Given the description of an element on the screen output the (x, y) to click on. 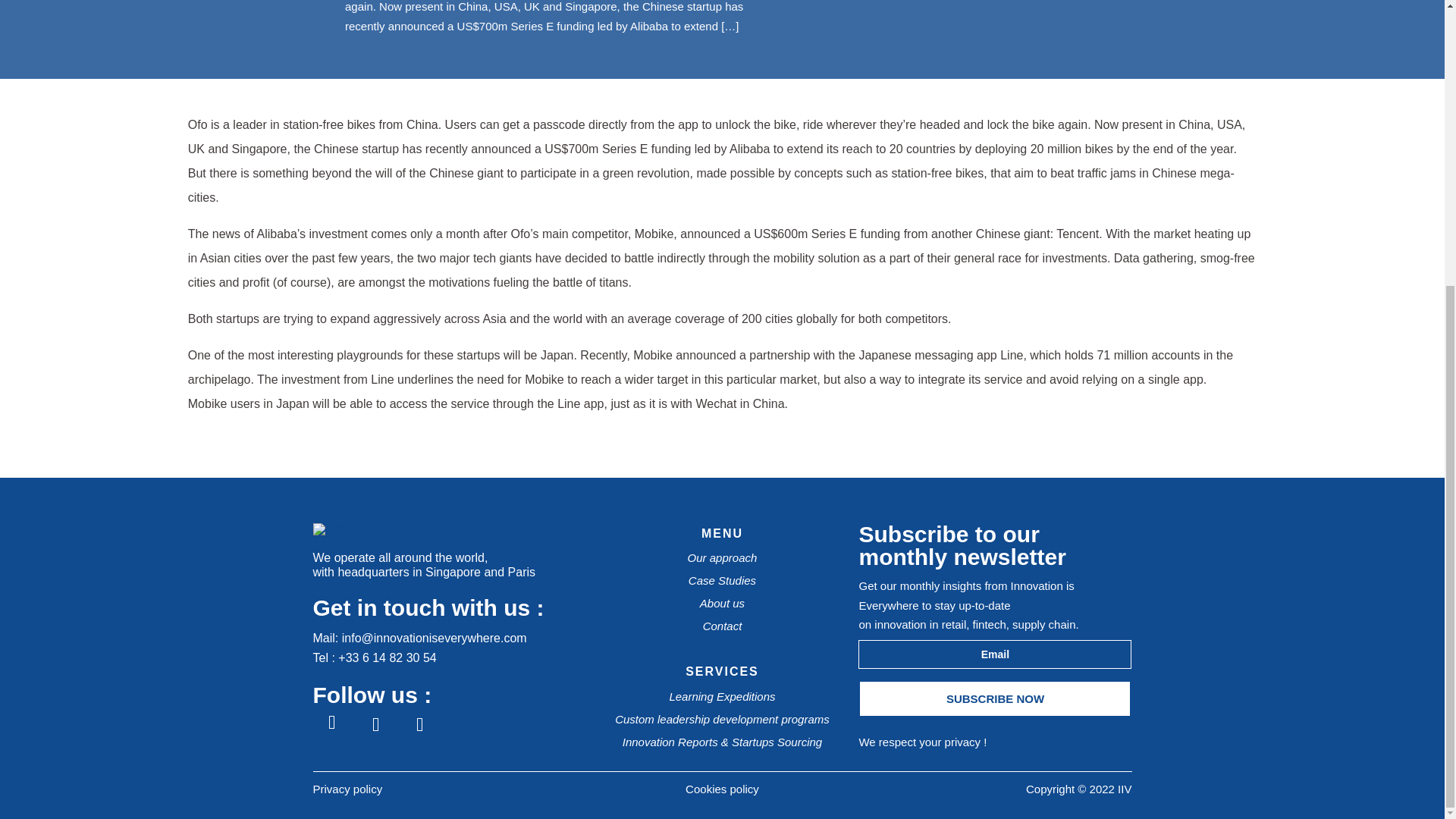
Follow on Facebook (331, 724)
Case Studies (721, 580)
Our approach (722, 557)
Custom leadership development programs (721, 718)
logo-iev-blanc (353, 522)
Follow on X (419, 724)
About us (722, 603)
Follow on LinkedIn (375, 724)
